Given the description of an element on the screen output the (x, y) to click on. 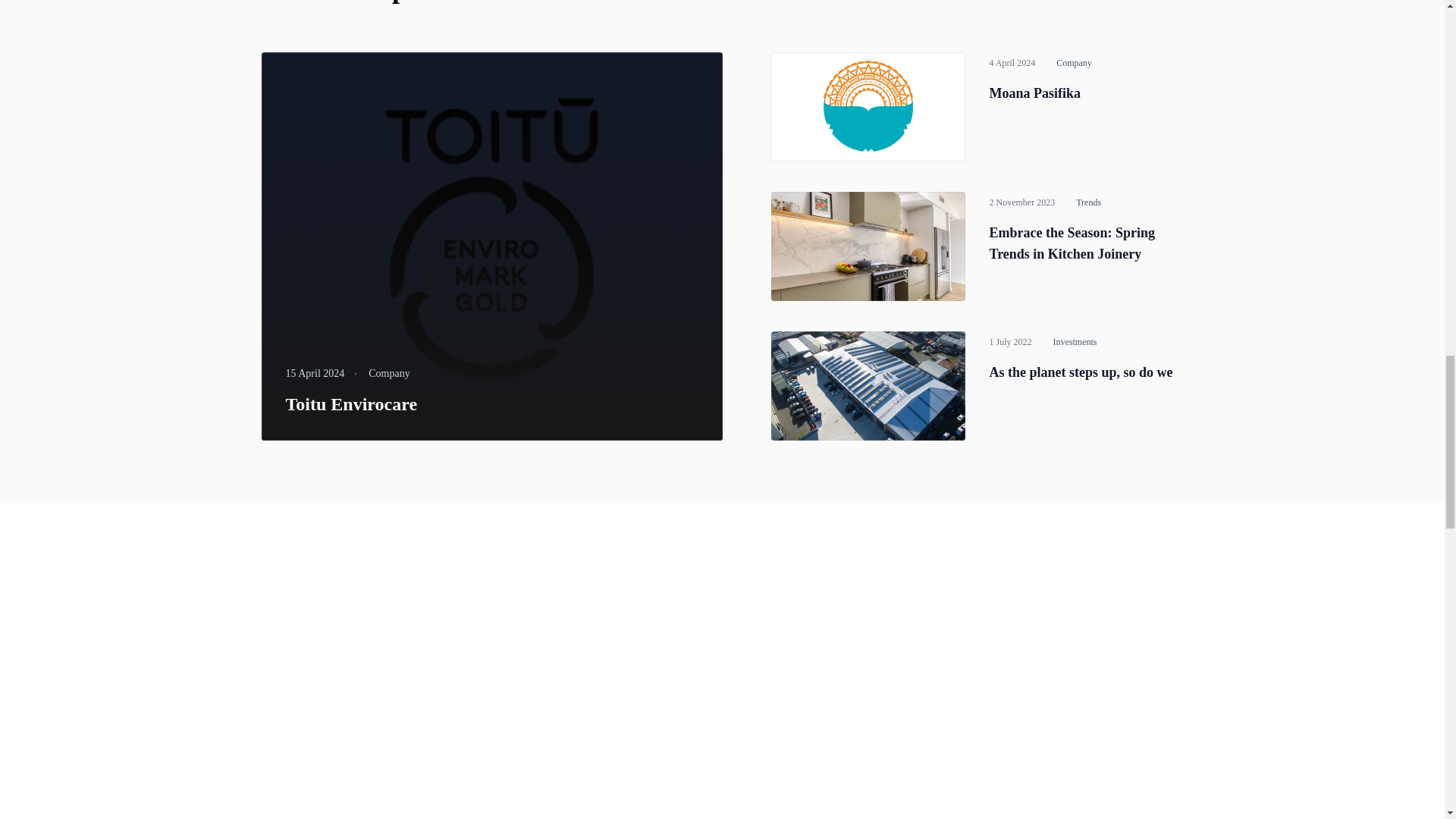
Embrace the Season: Spring Trends in Kitchen Joinery (1071, 243)
Toitu Envirocare (350, 403)
Moana Pasifika (1034, 92)
As the planet steps up, so do we (1080, 372)
